Given the description of an element on the screen output the (x, y) to click on. 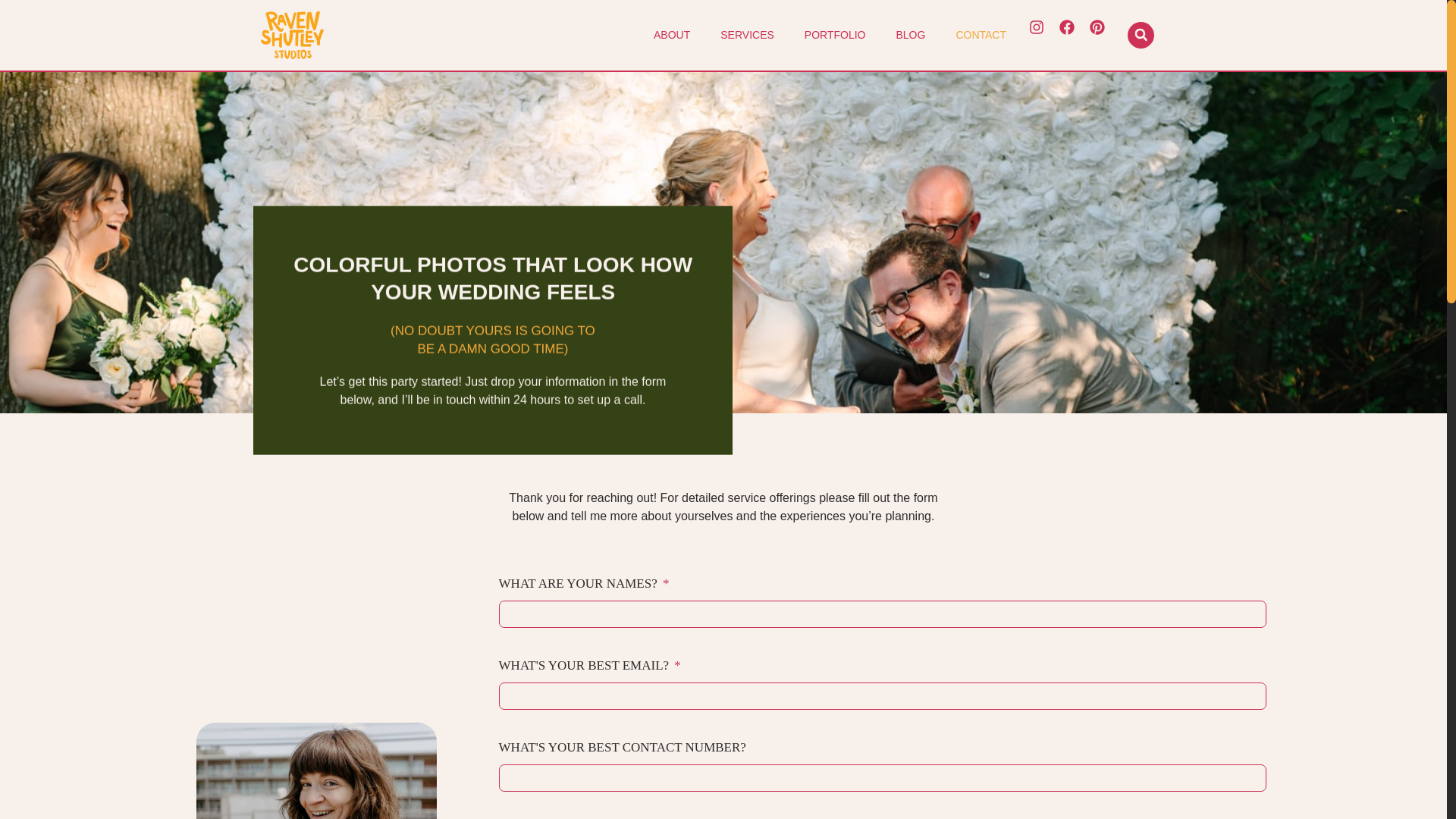
SERVICES (746, 34)
CONTACT (981, 34)
ABOUT (671, 34)
BLOG (910, 34)
PORTFOLIO (834, 34)
